Given the description of an element on the screen output the (x, y) to click on. 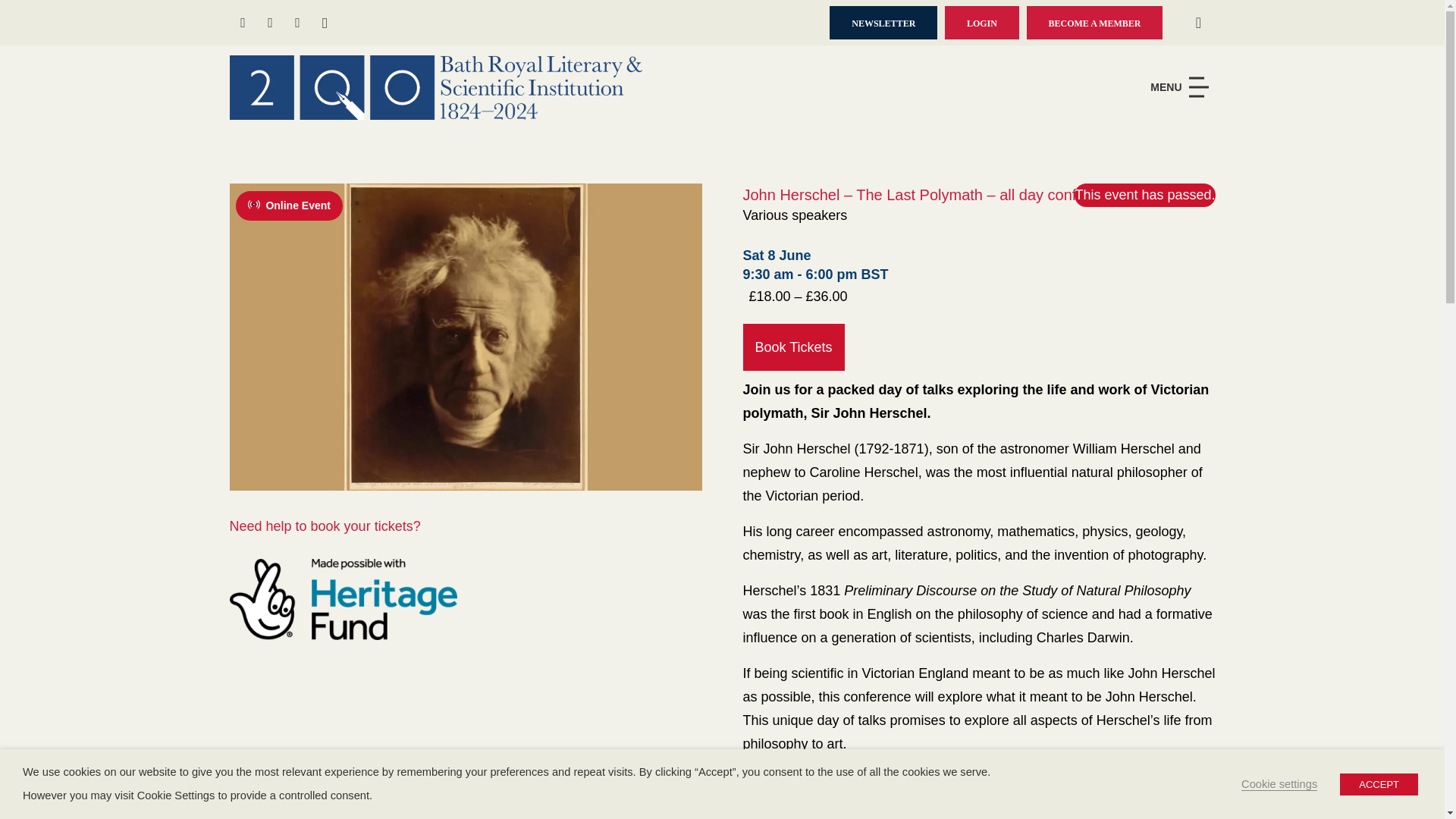
Twitter (269, 22)
BECOME A MEMBER (1094, 22)
Facebook (242, 22)
LOGIN (981, 22)
Instagram (324, 22)
Virtual (255, 205)
YouTube (297, 22)
NEWSLETTER (883, 22)
MENU (1182, 86)
